Given the description of an element on the screen output the (x, y) to click on. 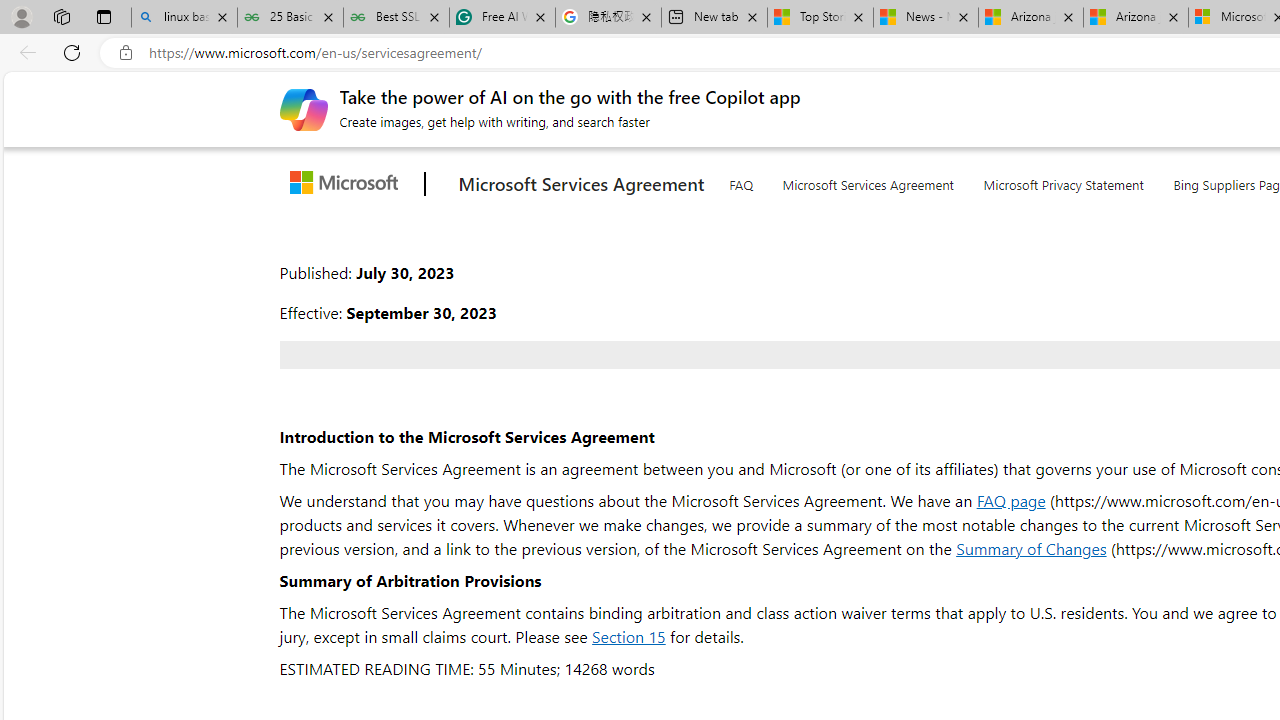
FAQ (740, 181)
FAQ page (1010, 500)
linux basic - Search (183, 17)
FAQ (740, 180)
